Given the description of an element on the screen output the (x, y) to click on. 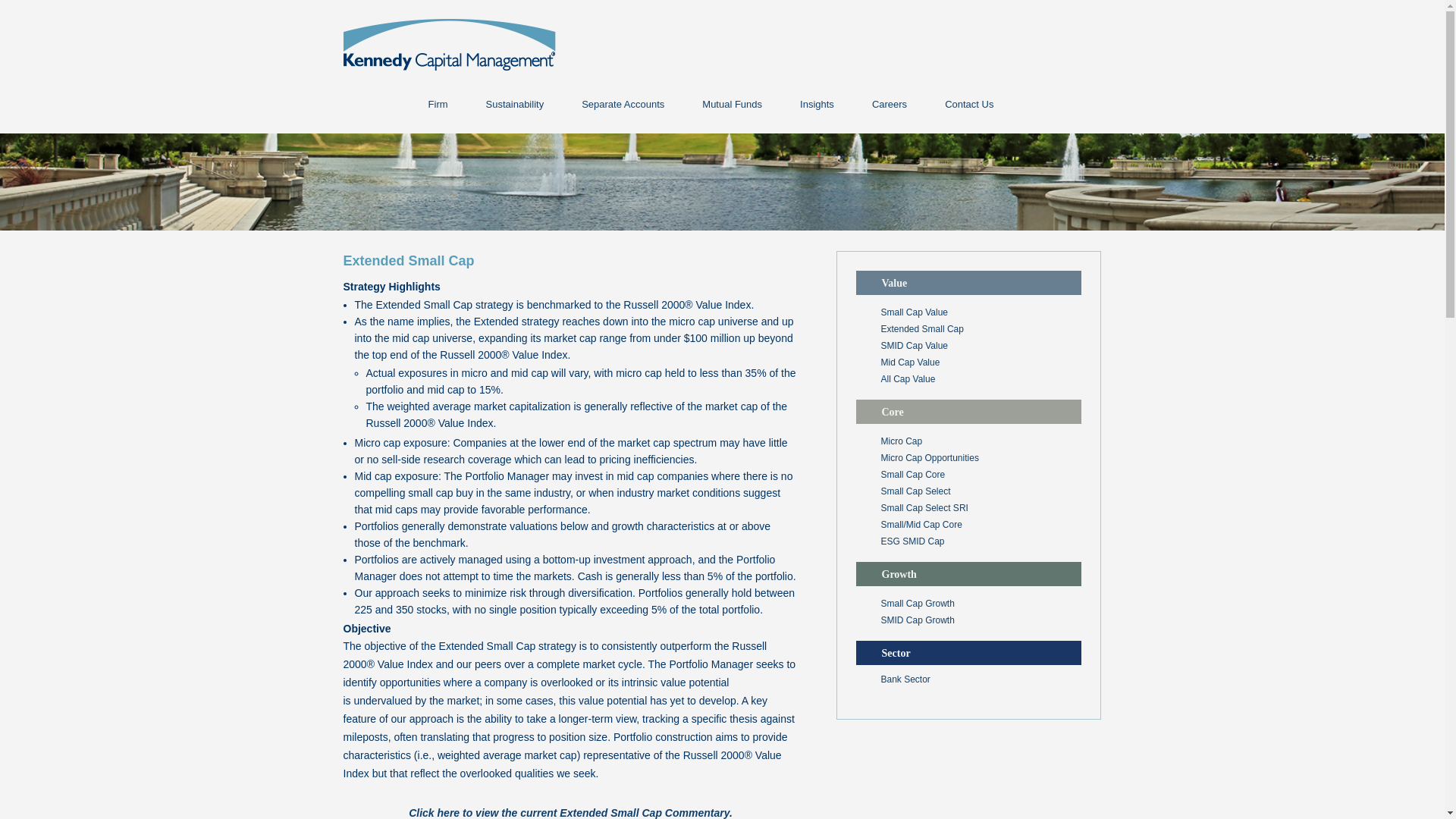
Click here to view the current Extended Small Cap Commentary (569, 812)
Value (968, 282)
Sustainability (515, 104)
Firm (437, 104)
Insights (816, 104)
Careers (889, 104)
Contact Us (969, 104)
Separate Accounts (622, 104)
Mutual Funds (732, 104)
